Given the description of an element on the screen output the (x, y) to click on. 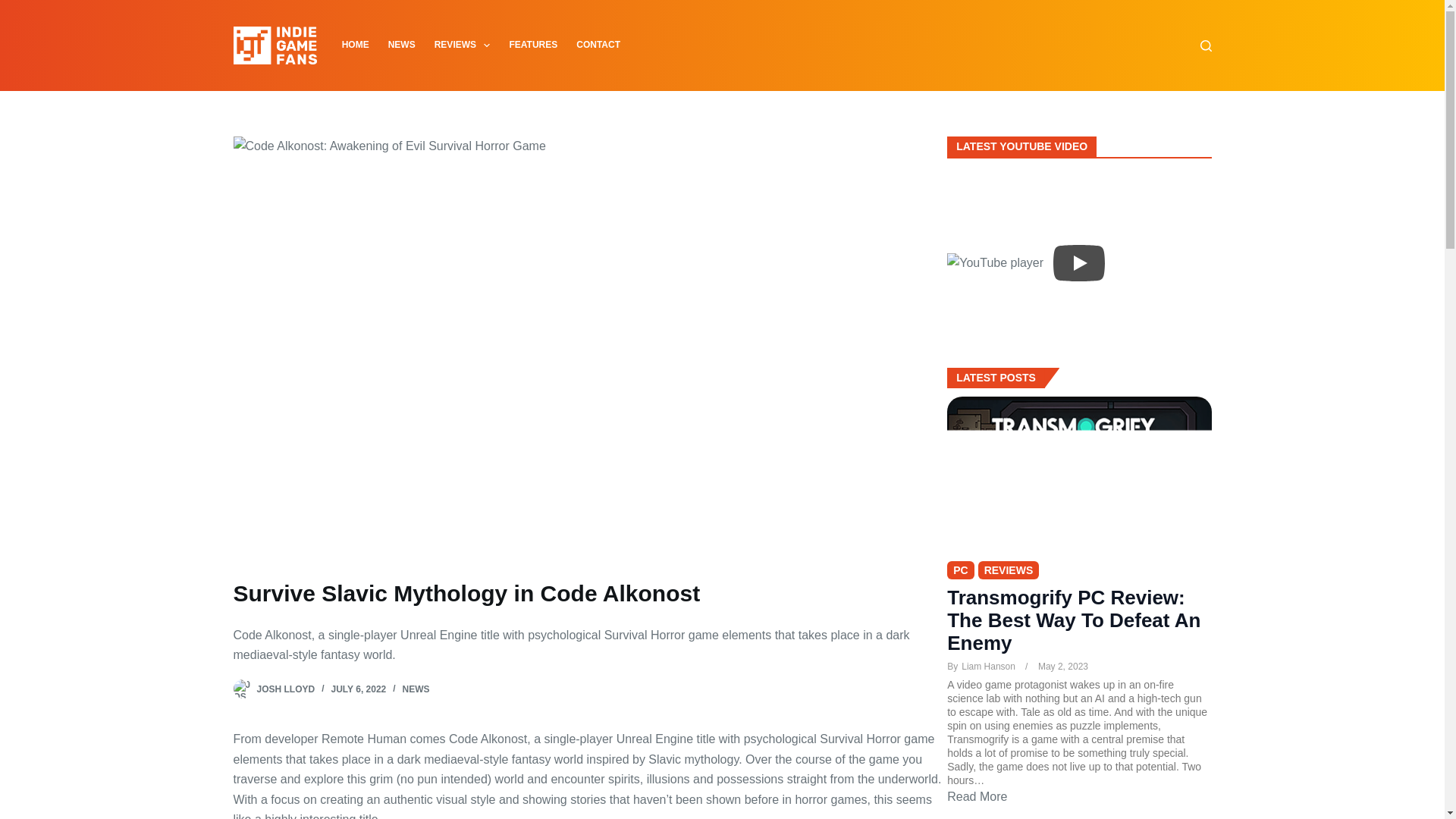
JOSH LLOYD (285, 688)
Posts by Josh Lloyd (285, 688)
NEWS (416, 688)
Survive Slavic Mythology in Code Alkonost (589, 593)
Skip to content (15, 7)
